Given the description of an element on the screen output the (x, y) to click on. 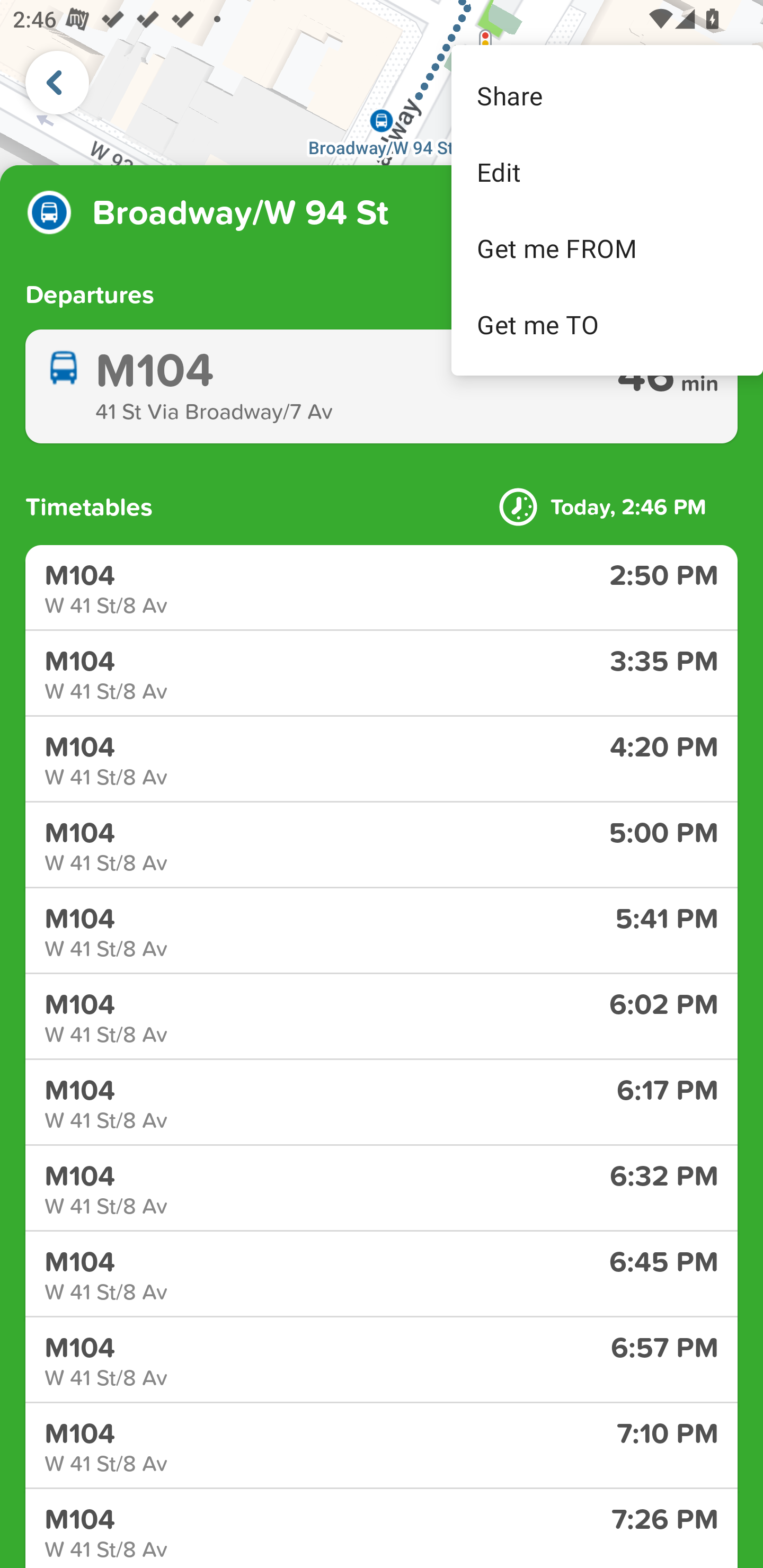
Get me FROM (607, 248)
